Given the description of an element on the screen output the (x, y) to click on. 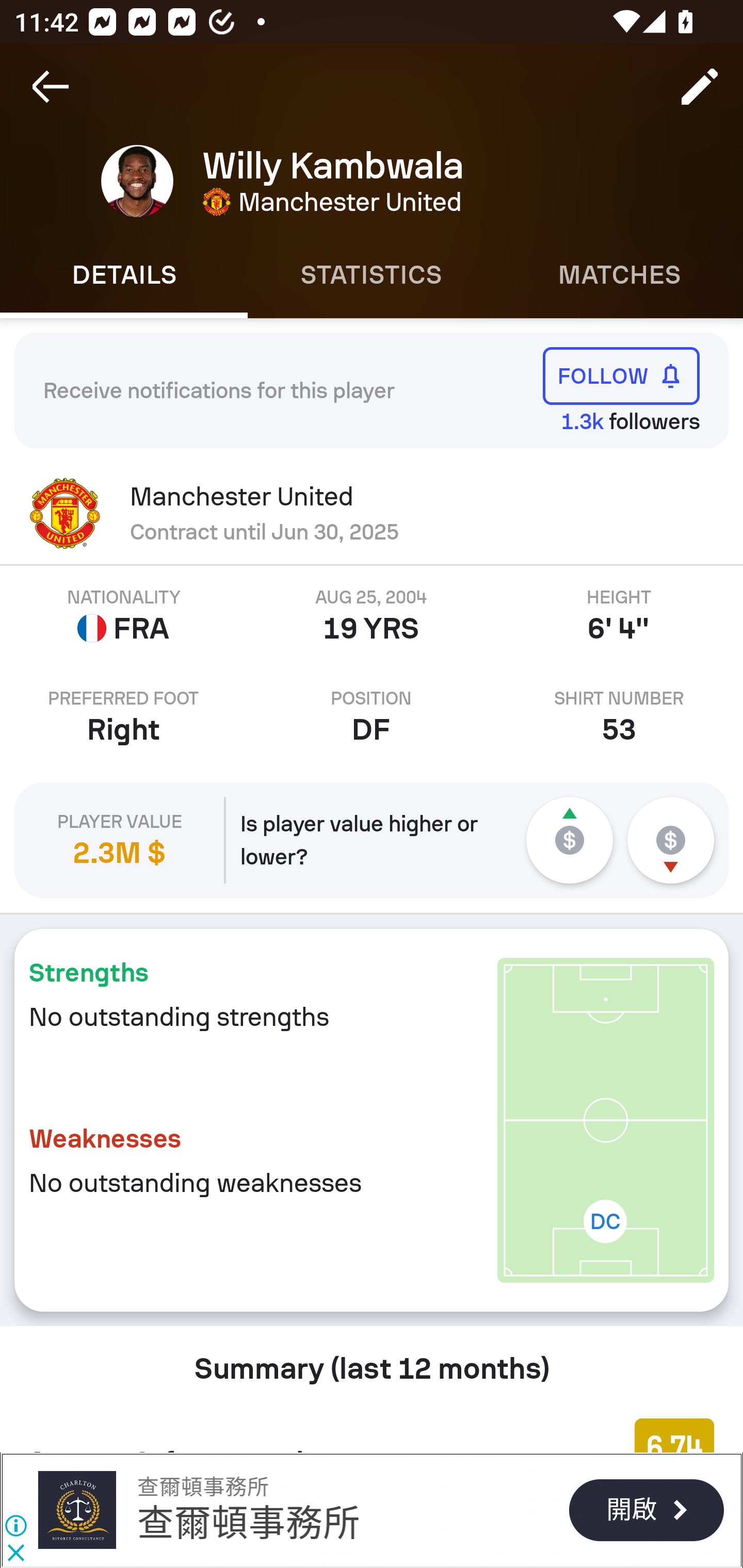
Navigate up (50, 86)
Edit (699, 86)
Statistics STATISTICS (371, 275)
Matches MATCHES (619, 275)
FOLLOW (621, 375)
Manchester United Contract until Jun 30, 2025 (371, 513)
NATIONALITY FRA (123, 616)
POSITION DF (371, 717)
查爾頓事務所 (76, 1509)
查爾頓事務所 (201, 1486)
開啟 (645, 1509)
查爾頓事務所 (248, 1523)
